Given the description of an element on the screen output the (x, y) to click on. 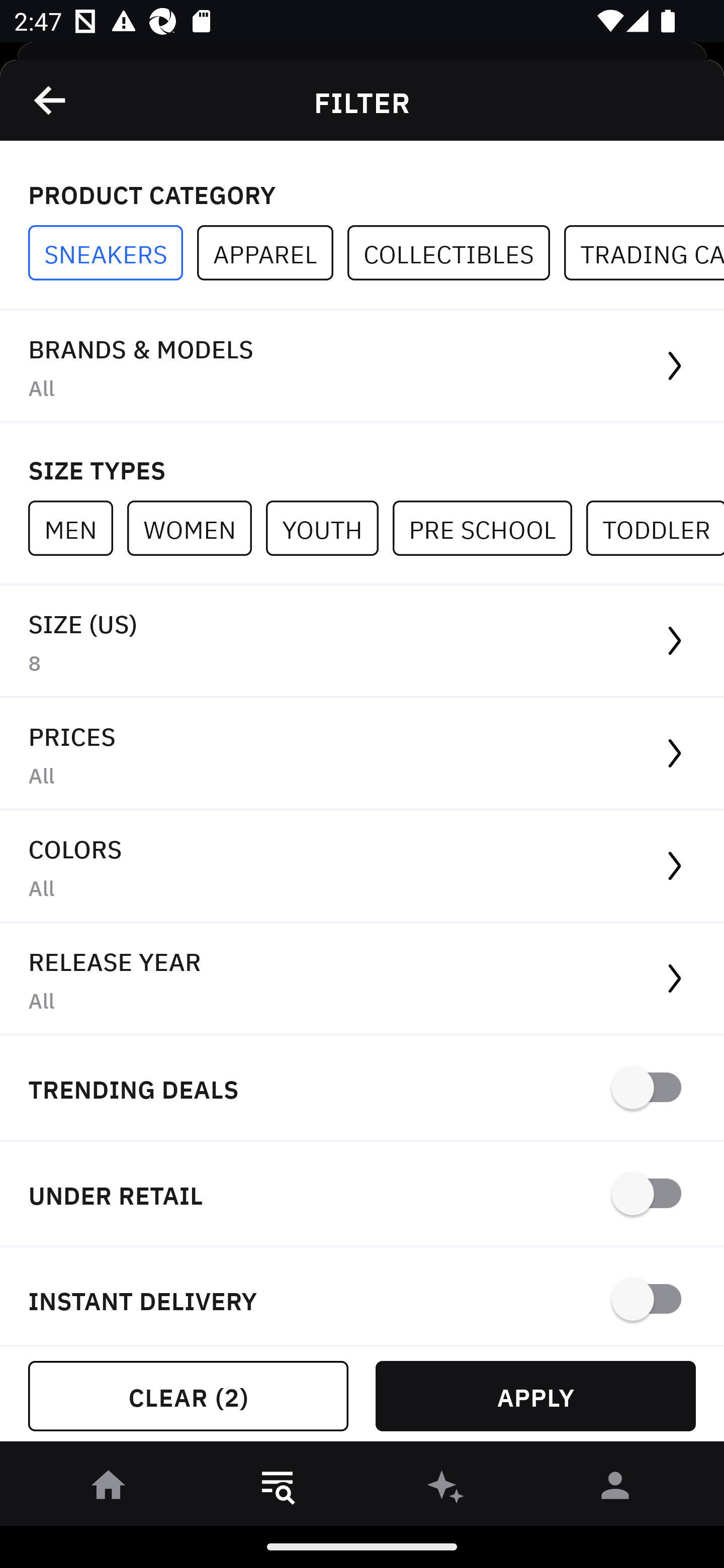
 (50, 100)
SNEAKERS (112, 252)
APPAREL (271, 252)
COLLECTIBLES (455, 252)
TRADING CARDS (643, 252)
BRANDS & MODELS All (362, 366)
MEN (77, 527)
WOMEN (196, 527)
YOUTH (328, 527)
PRE SCHOOL (489, 527)
TODDLER (655, 527)
SIZE (US) 8 (362, 640)
PRICES All (362, 753)
COLORS All (362, 866)
RELEASE YEAR All (362, 979)
TRENDING DEALS (362, 1088)
UNDER RETAIL (362, 1194)
INSTANT DELIVERY (362, 1296)
CLEAR (2) (188, 1396)
APPLY (535, 1396)
󰋜 (108, 1488)
󱎸 (277, 1488)
󰫢 (446, 1488)
󰀄 (615, 1488)
